Given the description of an element on the screen output the (x, y) to click on. 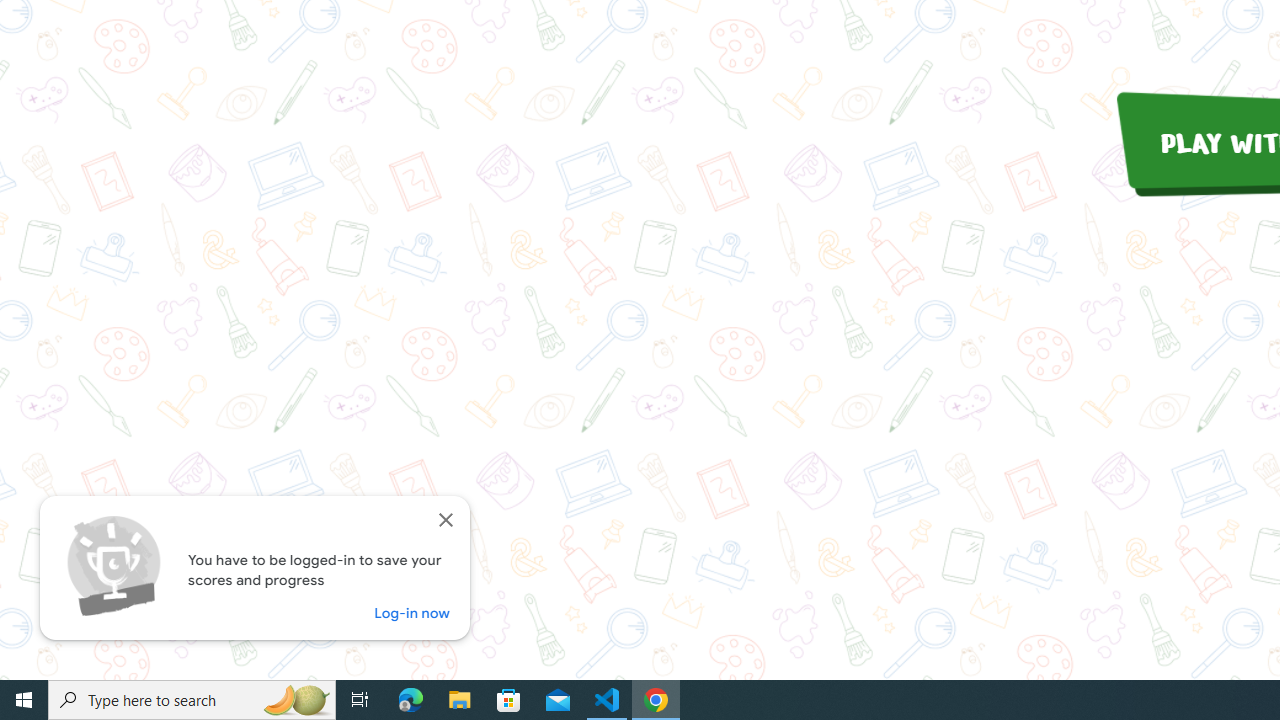
Log-in now (412, 612)
